Given the description of an element on the screen output the (x, y) to click on. 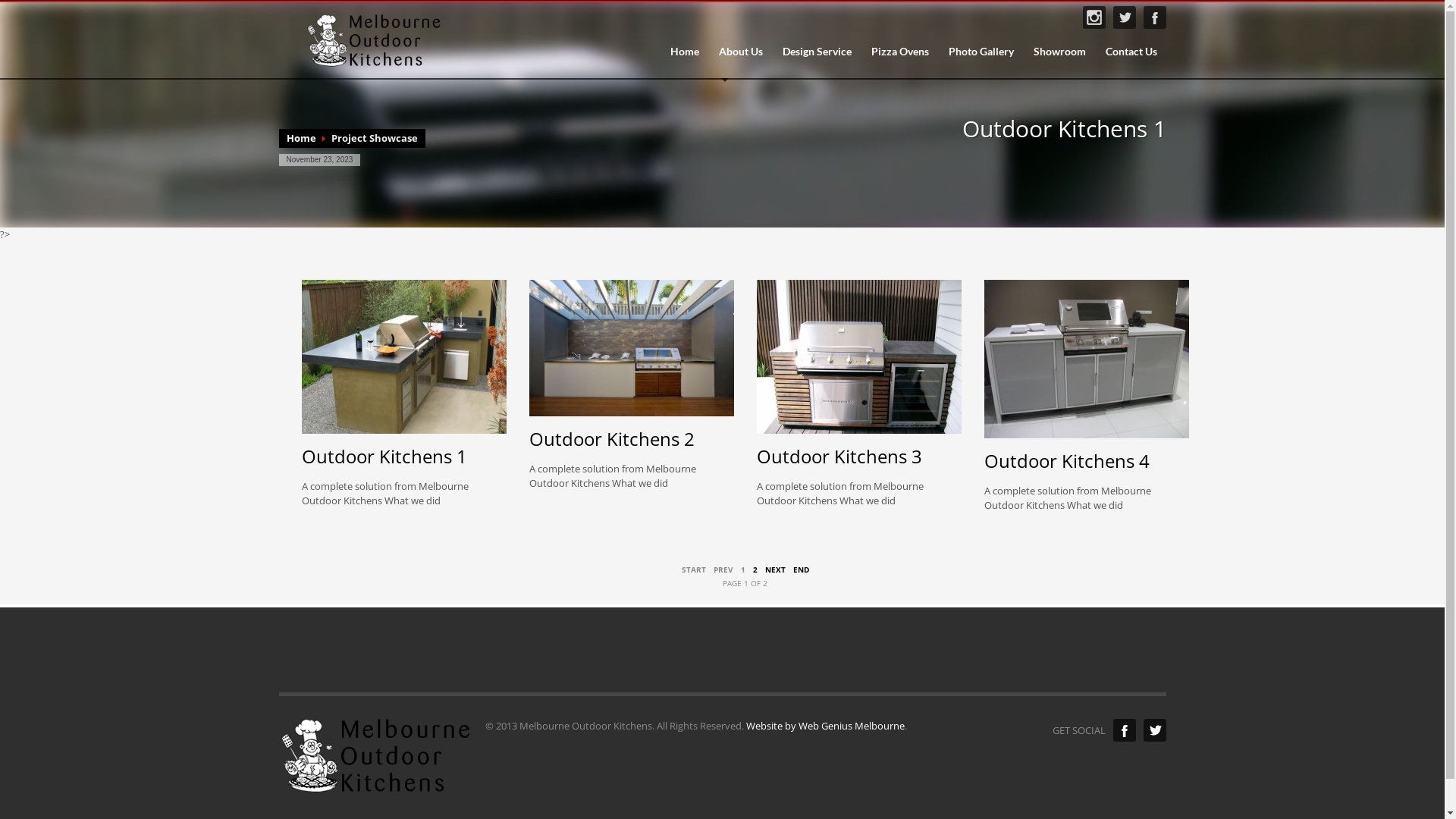
Website by Web Genius Melbourne Element type: text (825, 725)
Outdoor Kitchens 1 Element type: text (384, 455)
Outdoor Kitchens 2 Element type: text (611, 438)
Showroom Element type: text (1058, 51)
Contact Us Element type: text (1131, 51)
Like Us On Facebook Element type: text (1154, 17)
Instagram Element type: text (1093, 17)
END Element type: text (801, 569)
Facebook Element type: text (1124, 729)
Twitter Element type: text (1154, 729)
About Us Element type: text (740, 51)
Pizza Ovens Element type: text (899, 51)
2 Element type: text (754, 569)
Home Element type: text (684, 51)
Design Service Element type: text (816, 51)
Follow Us On Twitter Element type: text (1124, 17)
Outdoor Kitchens 4 Element type: text (1066, 460)
Photo Gallery Element type: text (980, 51)
NEXT Element type: text (774, 569)
Melbournes Finest Outdoor Kitchens Element type: hover (372, 40)
Outdoor Kitchens 3 Element type: text (839, 455)
Home Element type: text (301, 137)
